Given the description of an element on the screen output the (x, y) to click on. 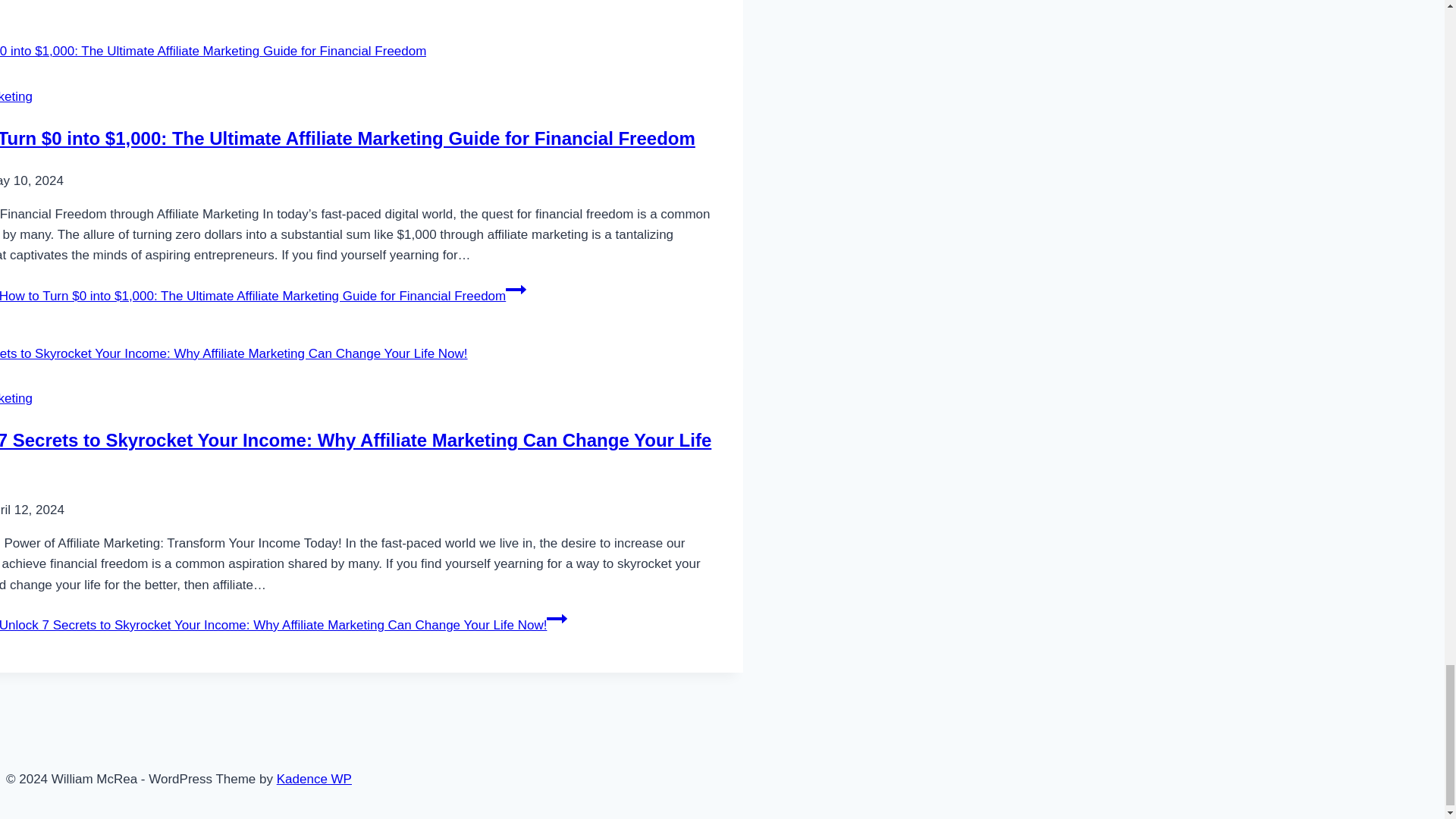
affiliate marketing (16, 398)
Continue (515, 289)
Continue (557, 618)
affiliate marketing (16, 96)
